Given the description of an element on the screen output the (x, y) to click on. 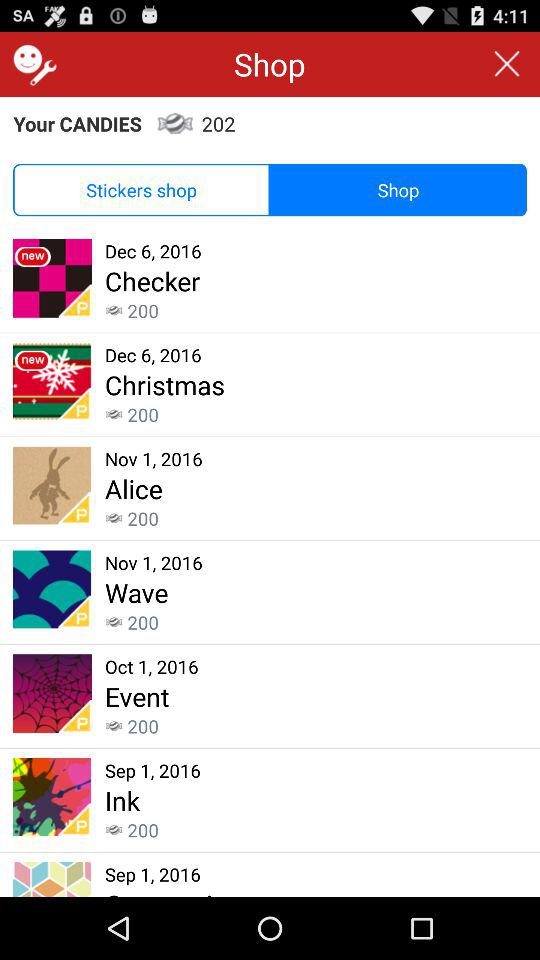
scroll to the geometric icon (165, 891)
